Given the description of an element on the screen output the (x, y) to click on. 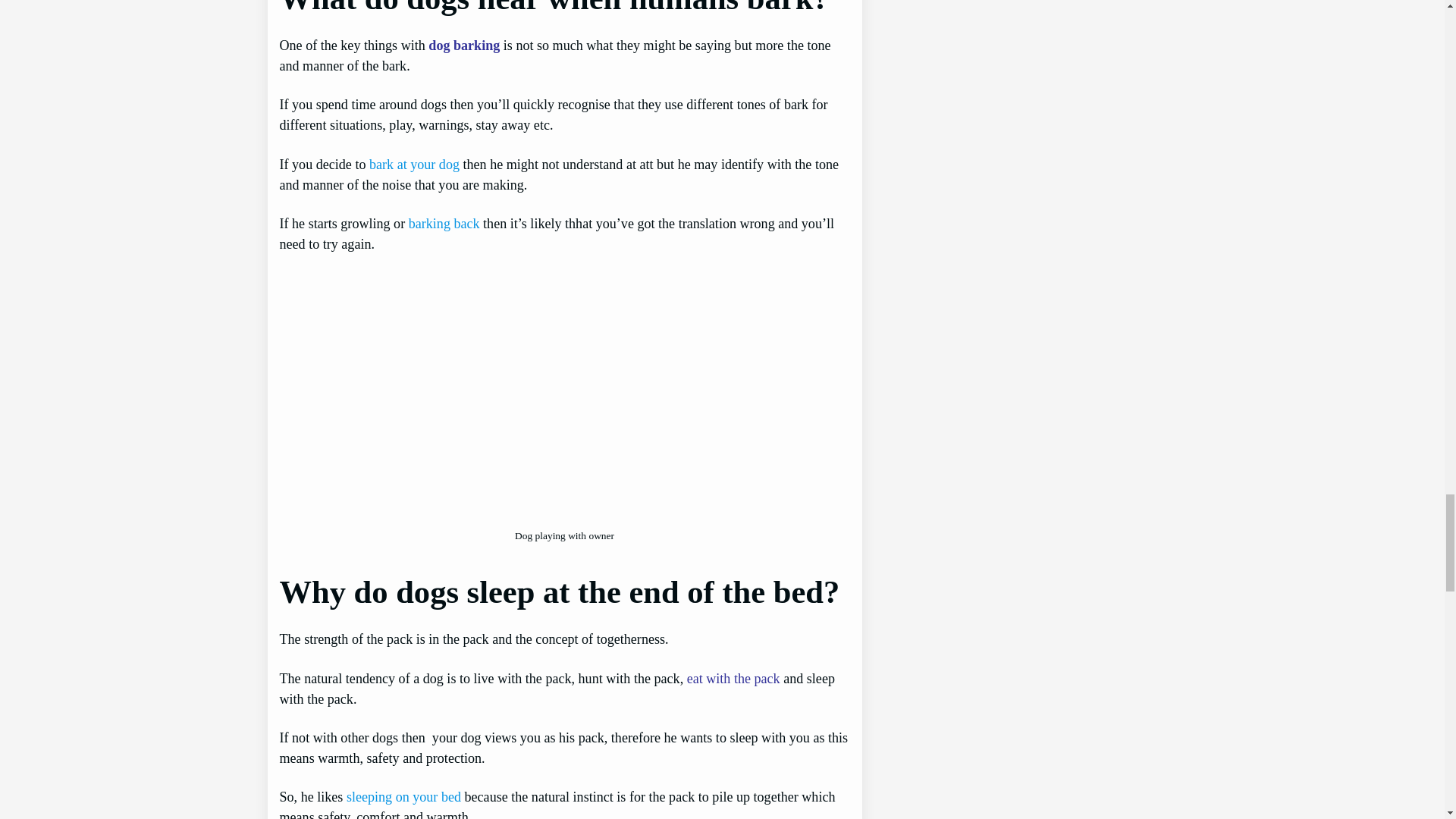
eat with the pack (733, 678)
dog barking (463, 45)
barking back (444, 223)
bark at your dog (414, 164)
sleeping on your bed (403, 796)
